Given the description of an element on the screen output the (x, y) to click on. 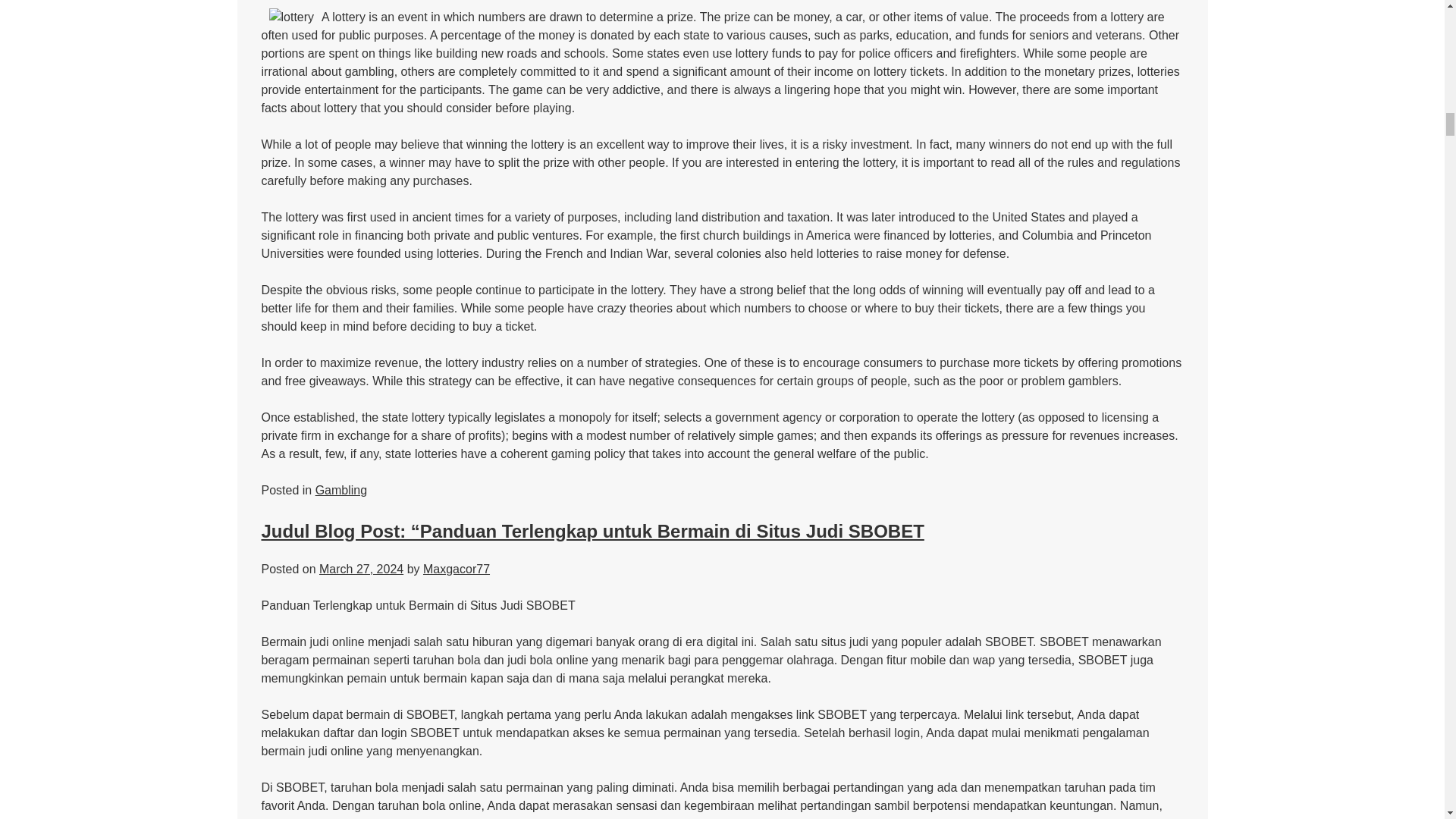
Maxgacor77 (456, 568)
Gambling (340, 490)
March 27, 2024 (360, 568)
